Given the description of an element on the screen output the (x, y) to click on. 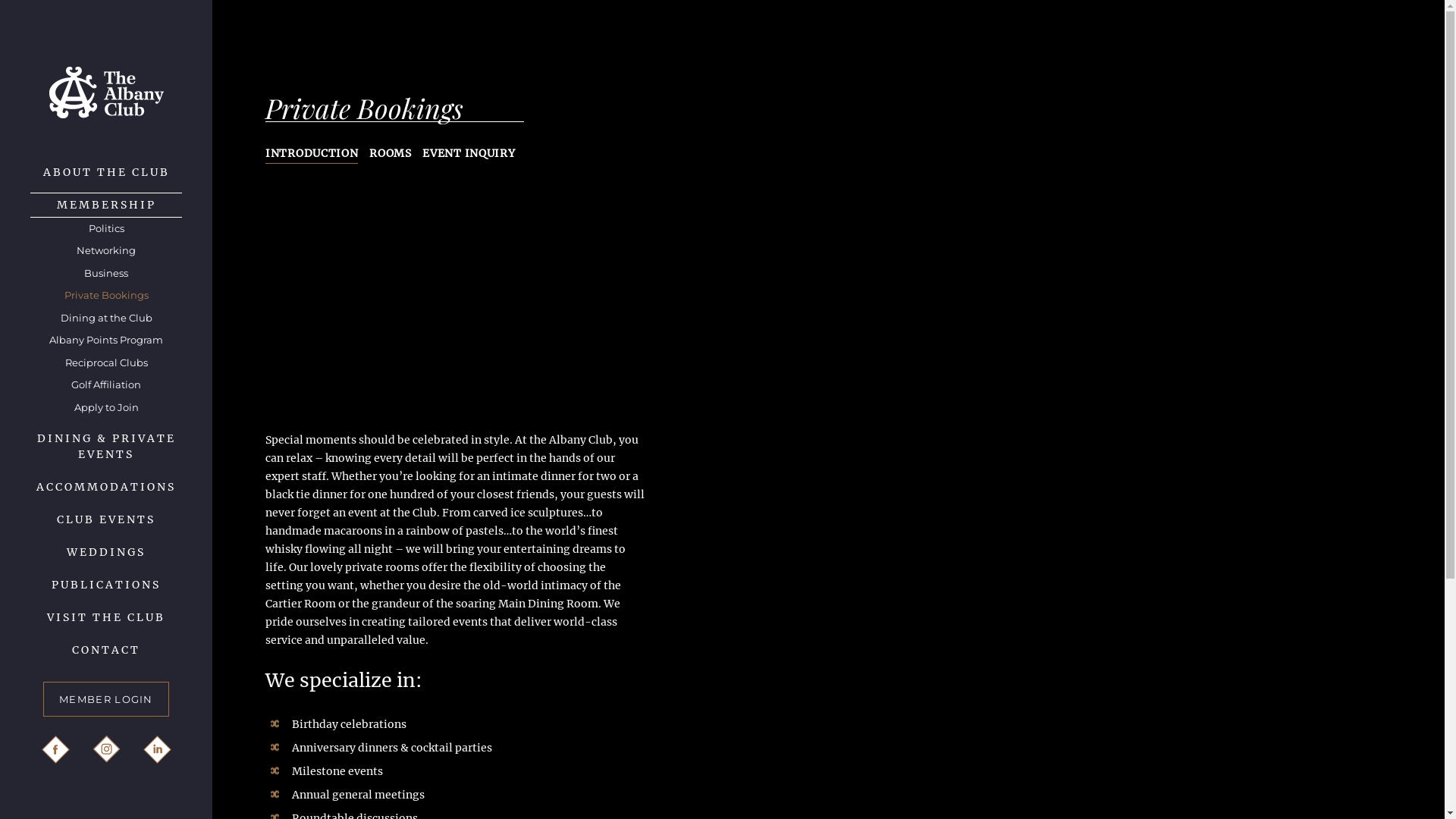
YouTube player Element type: hover (454, 301)
VISIT THE CLUB Element type: text (106, 617)
Private Bookings Element type: text (106, 295)
INTRODUCTION Element type: text (311, 153)
ABOUT THE CLUB Element type: text (106, 172)
PUBLICATIONS Element type: text (106, 584)
Facebook Element type: text (54, 749)
ROOMS Element type: text (390, 153)
Golf Affiliation Element type: text (106, 384)
EVENT INQUIRY Element type: text (468, 153)
Albany Club of Toronto Element type: text (105, 92)
Apply to Join Element type: text (106, 407)
CLUB EVENTS Element type: text (106, 519)
Albany Points Program Element type: text (106, 340)
Instagram Element type: text (106, 749)
Dining at the Club Element type: text (106, 318)
Reciprocal Clubs Element type: text (106, 362)
Business Element type: text (106, 273)
Politics Element type: text (106, 228)
LinkedIn Element type: text (156, 749)
MEMBER LOGIN Element type: text (106, 698)
MEMBERSHIP Element type: text (106, 204)
Networking Element type: text (106, 250)
WEDDINGS Element type: text (106, 551)
DINING & PRIVATE EVENTS Element type: text (106, 446)
CONTACT Element type: text (106, 649)
ACCOMMODATIONS Element type: text (106, 486)
